Given the description of an element on the screen output the (x, y) to click on. 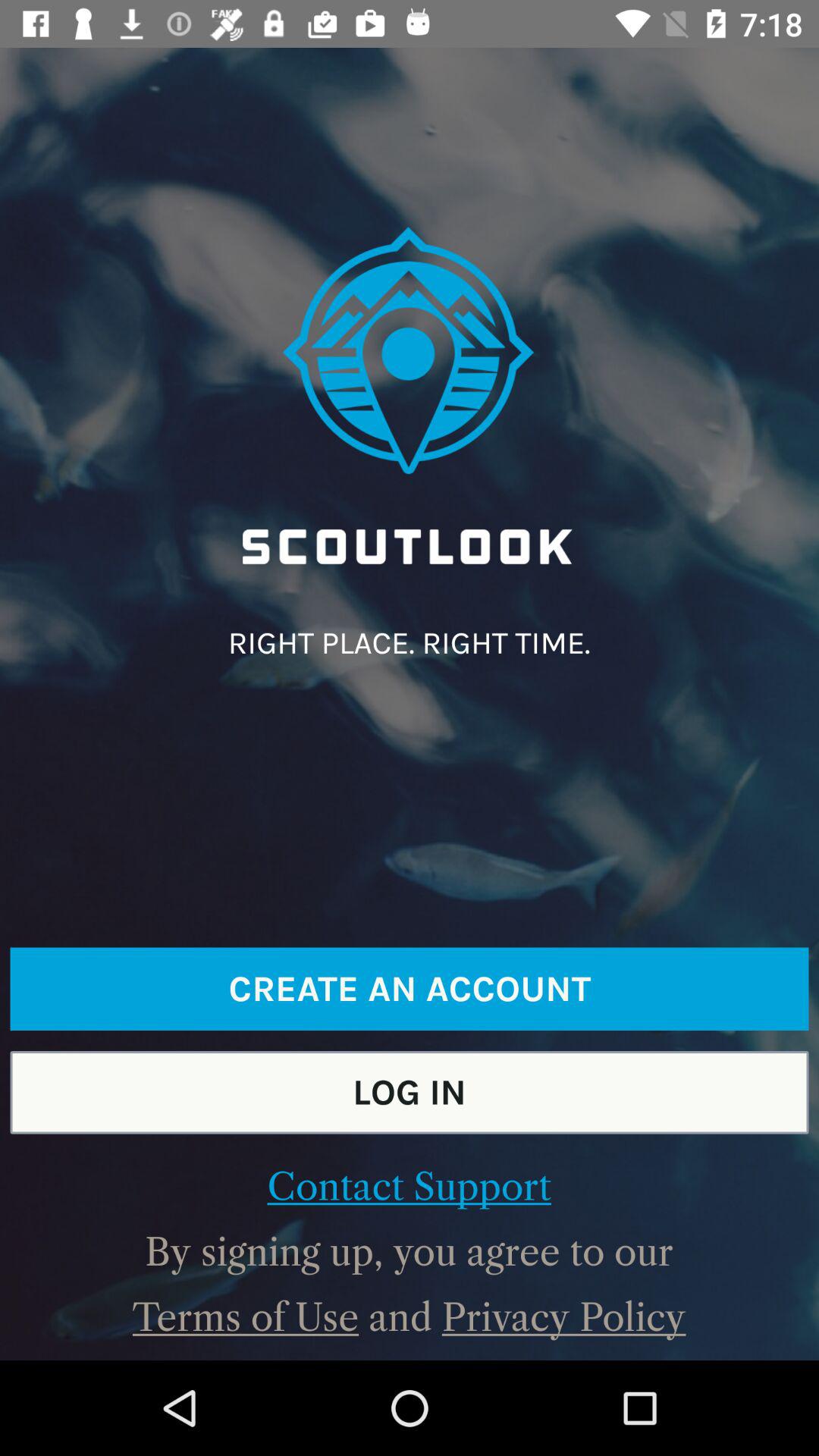
swipe to contact support item (409, 1186)
